Given the description of an element on the screen output the (x, y) to click on. 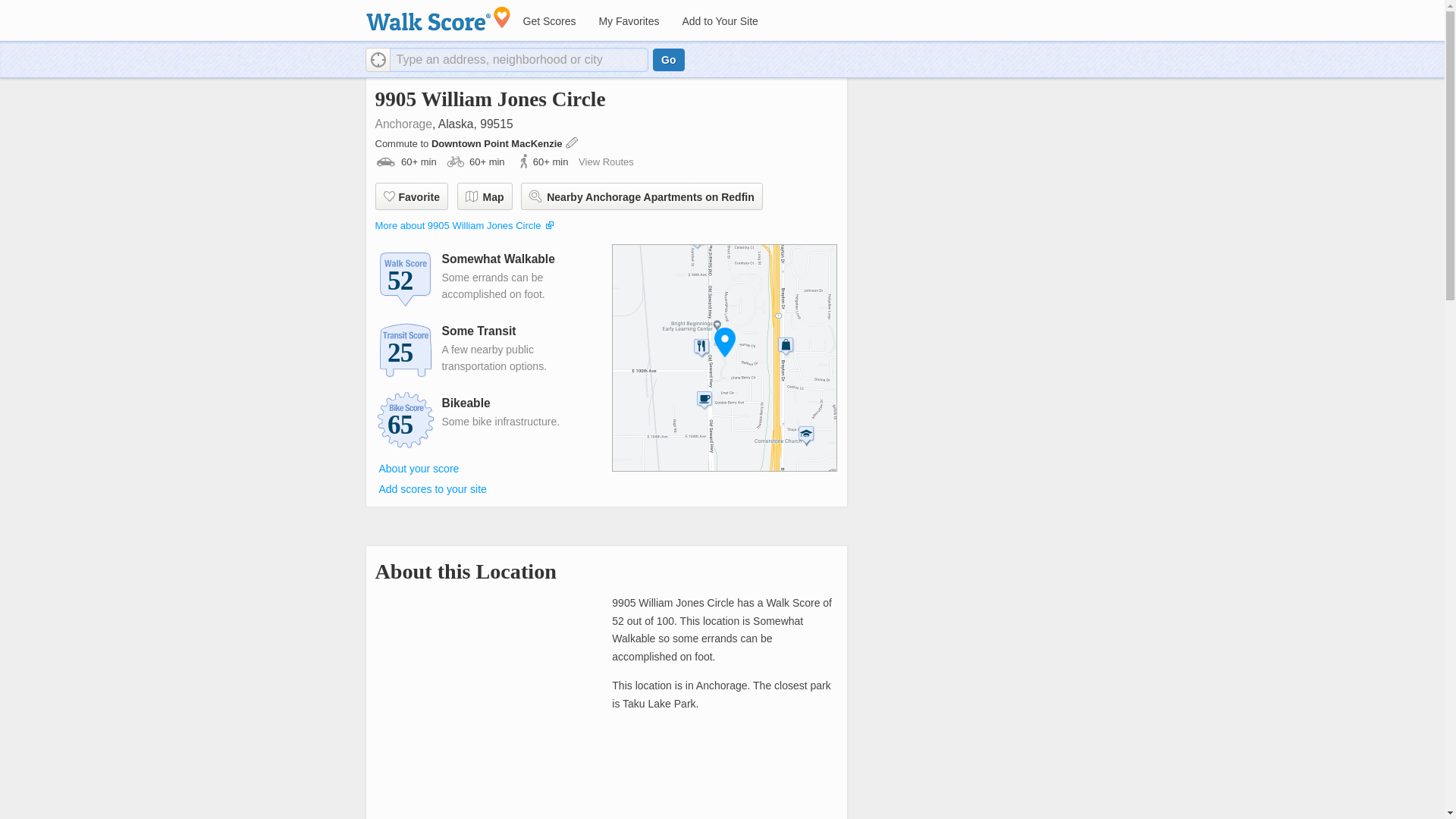
Get Scores (548, 21)
Anchorage (402, 123)
My Favorites (628, 21)
Nearby Anchorage Apartments on Redfin (641, 195)
Map (484, 195)
Add scores to your site (432, 489)
View Routes (605, 161)
Go (668, 59)
Add to Your Site (719, 21)
Downtown Point MacKenzie (497, 143)
